Given the description of an element on the screen output the (x, y) to click on. 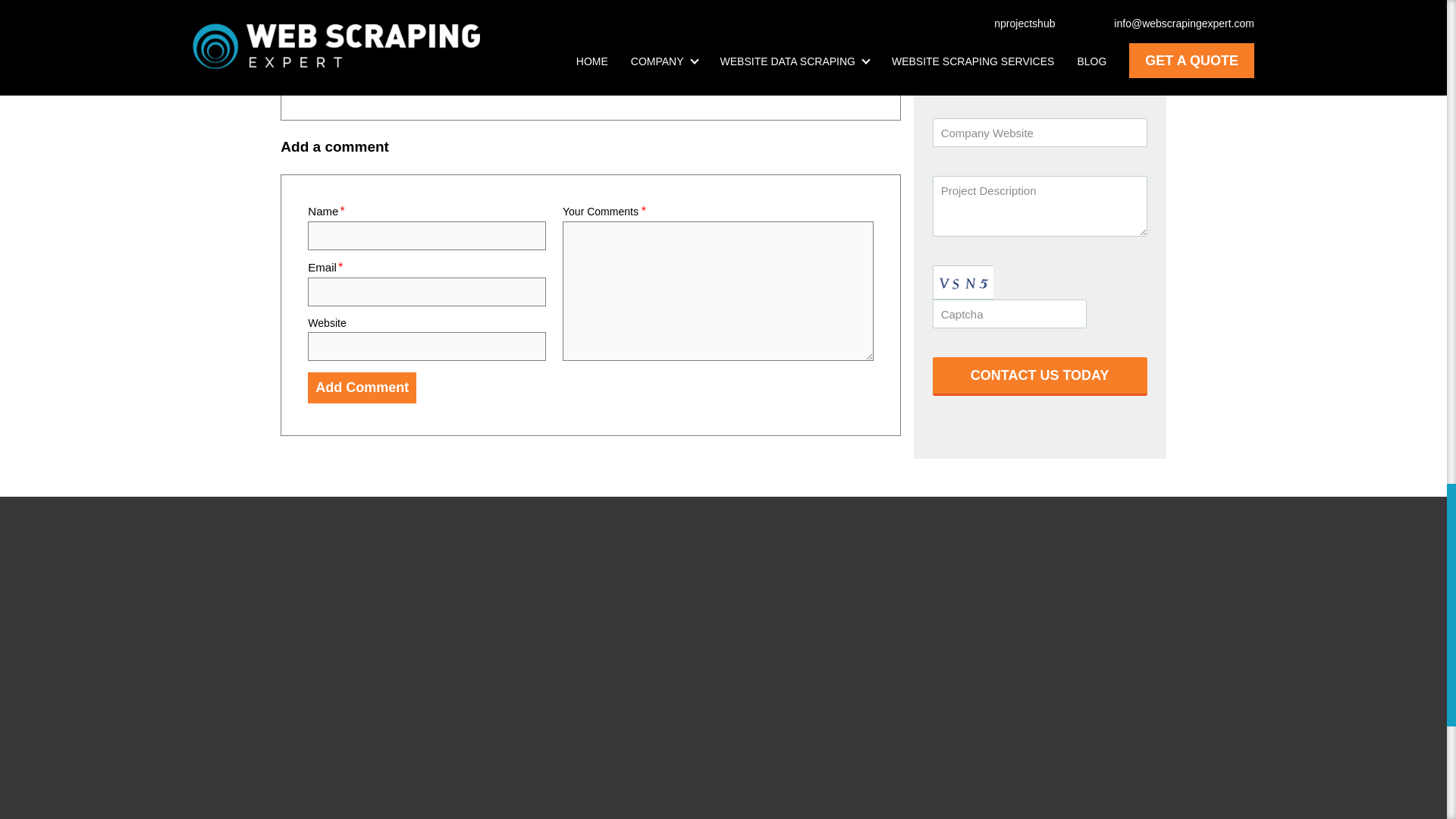
Add Comment (361, 387)
